Given the description of an element on the screen output the (x, y) to click on. 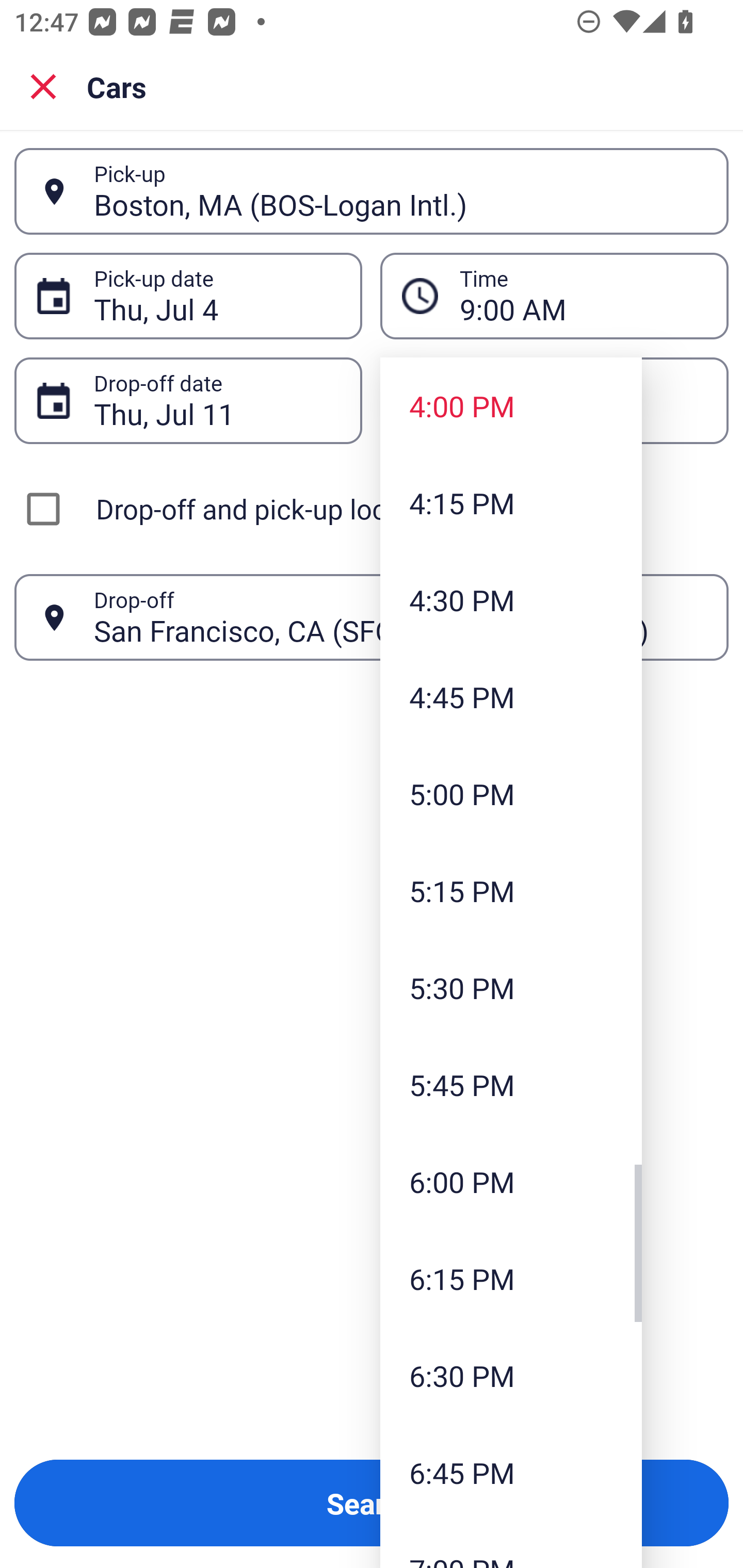
4:00 PM (510, 405)
4:15 PM (510, 502)
4:30 PM (510, 599)
4:45 PM (510, 695)
5:00 PM (510, 793)
5:15 PM (510, 890)
5:30 PM (510, 987)
5:45 PM (510, 1084)
6:00 PM (510, 1181)
6:15 PM (510, 1278)
6:30 PM (510, 1374)
6:45 PM (510, 1471)
